Given the description of an element on the screen output the (x, y) to click on. 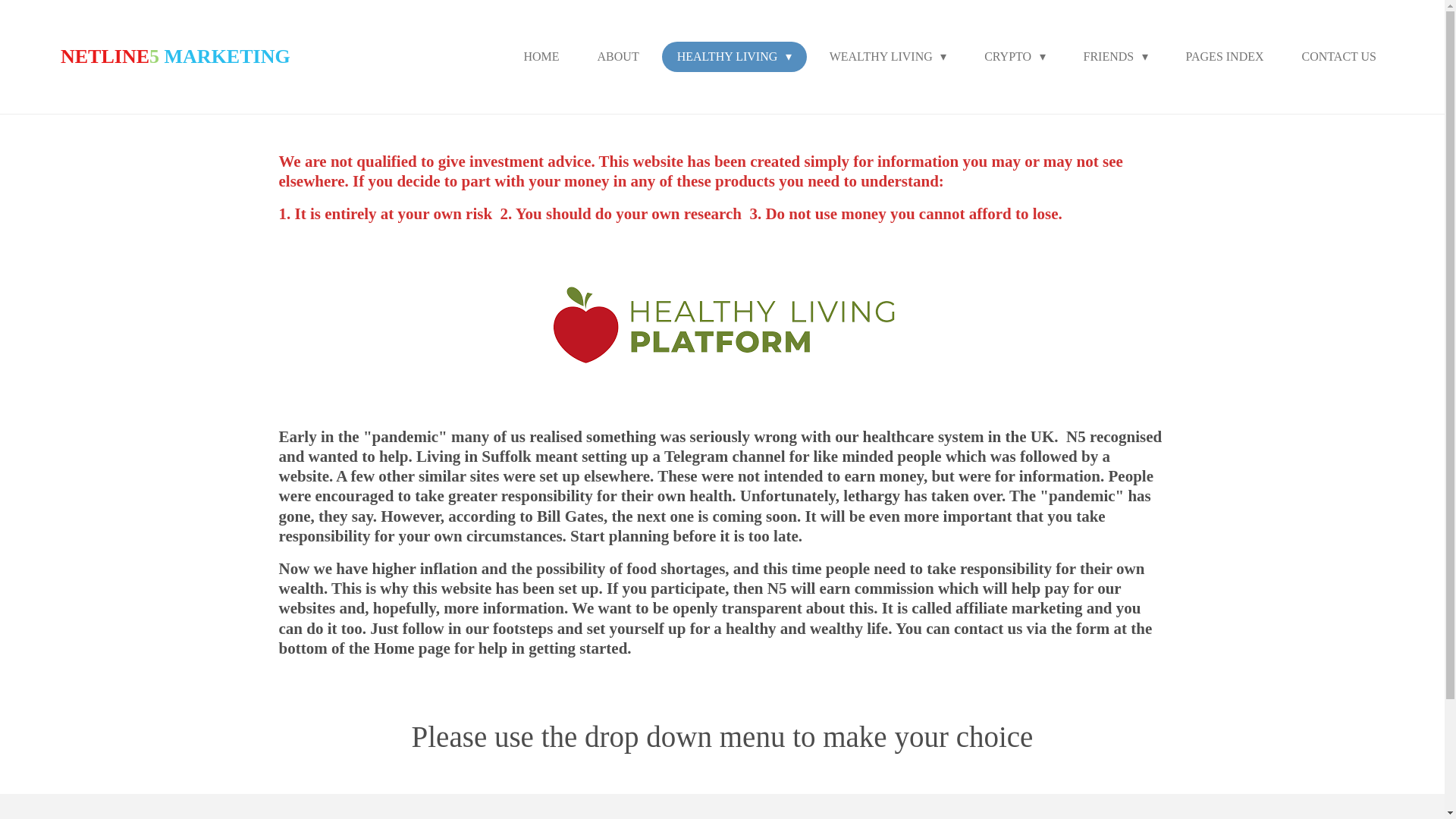
WEALTHY LIVING (887, 56)
HEALTHY LIVING (734, 56)
ABOUT (617, 56)
FRIENDS (1114, 56)
NETLINE5 MARKETING (175, 56)
HOME (540, 56)
CRYPTO (1014, 56)
